Given the description of an element on the screen output the (x, y) to click on. 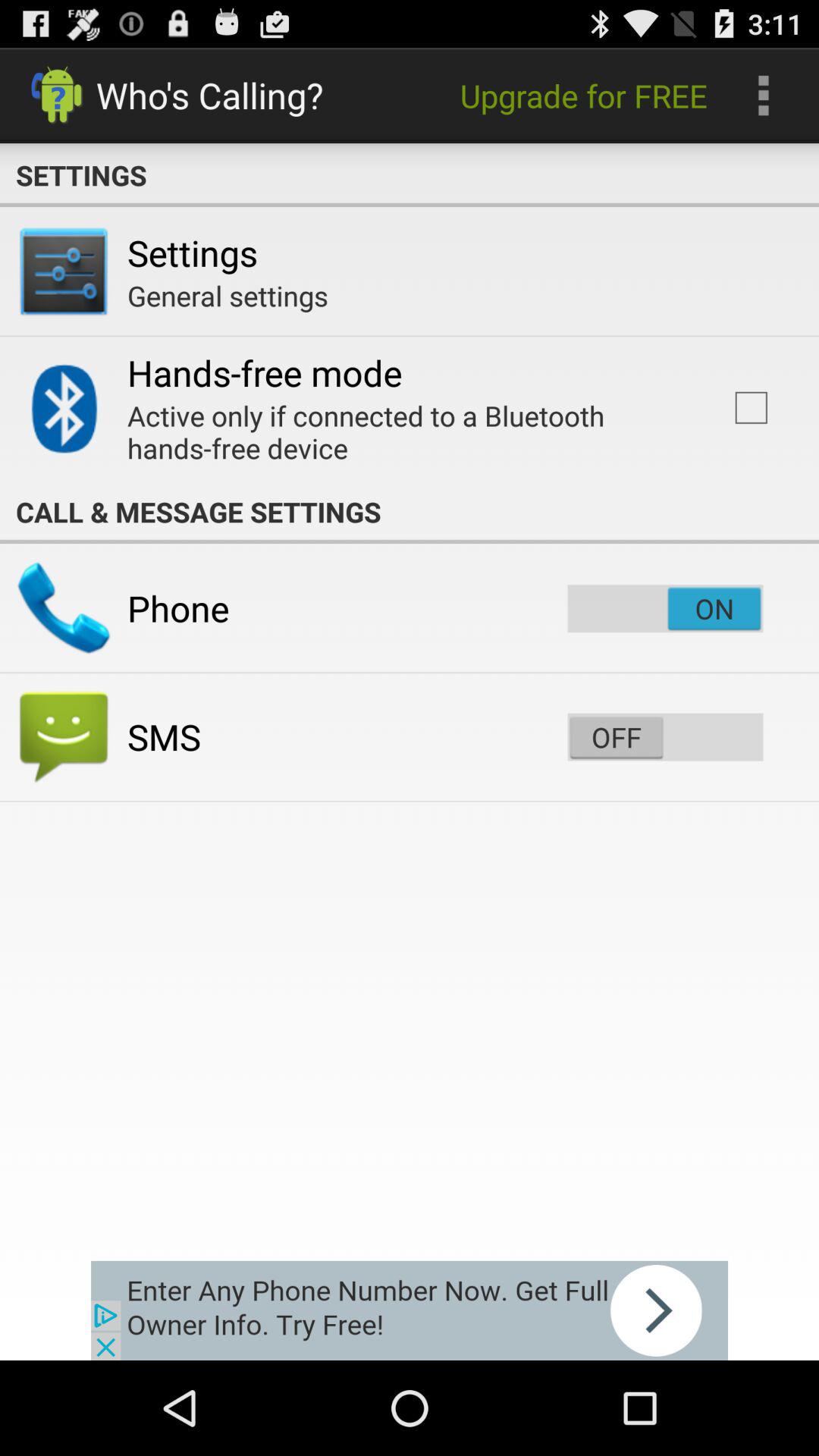
click the advertisement (409, 1310)
